Given the description of an element on the screen output the (x, y) to click on. 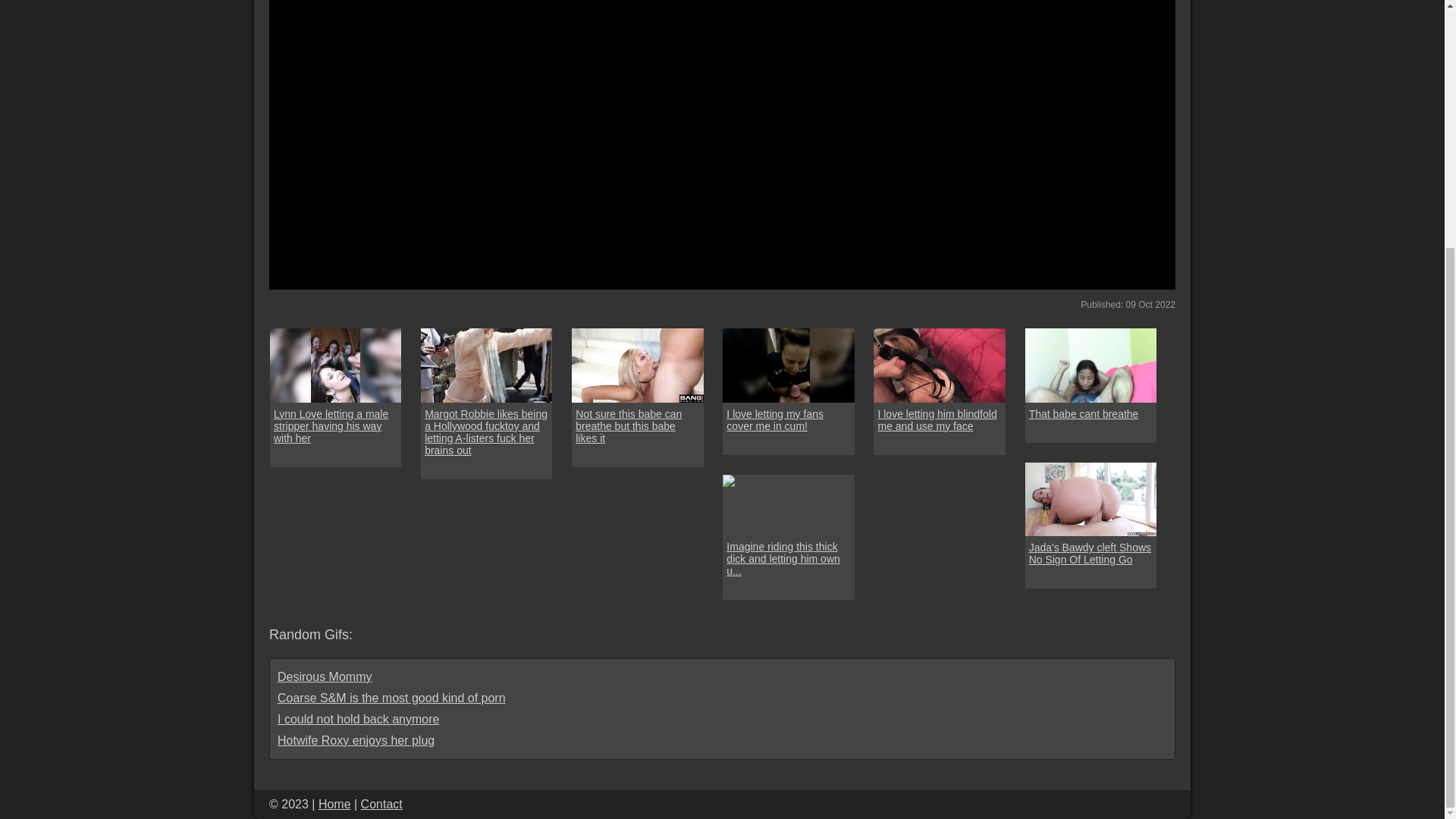
Hotwife Roxy enjoys her plug (355, 740)
I love letting him blindfold me and use my face (939, 419)
Contact (382, 804)
I could not hold back anymore (358, 719)
That babe cant breathe (1083, 413)
Desirous Mommy (324, 676)
Lynn Love letting a male stripper having his way with her (335, 365)
Home (334, 804)
I love letting him blindfold me and use my face (938, 365)
Lynn Love letting a male stripper having his way with her (335, 425)
Jada's Bawdy cleft Shows No Sign Of Letting Go (1091, 553)
I love letting him blindfold me and use my face (939, 419)
That babe cant breathe (1090, 365)
I love letting my fans cover me in cum! (787, 365)
